Given the description of an element on the screen output the (x, y) to click on. 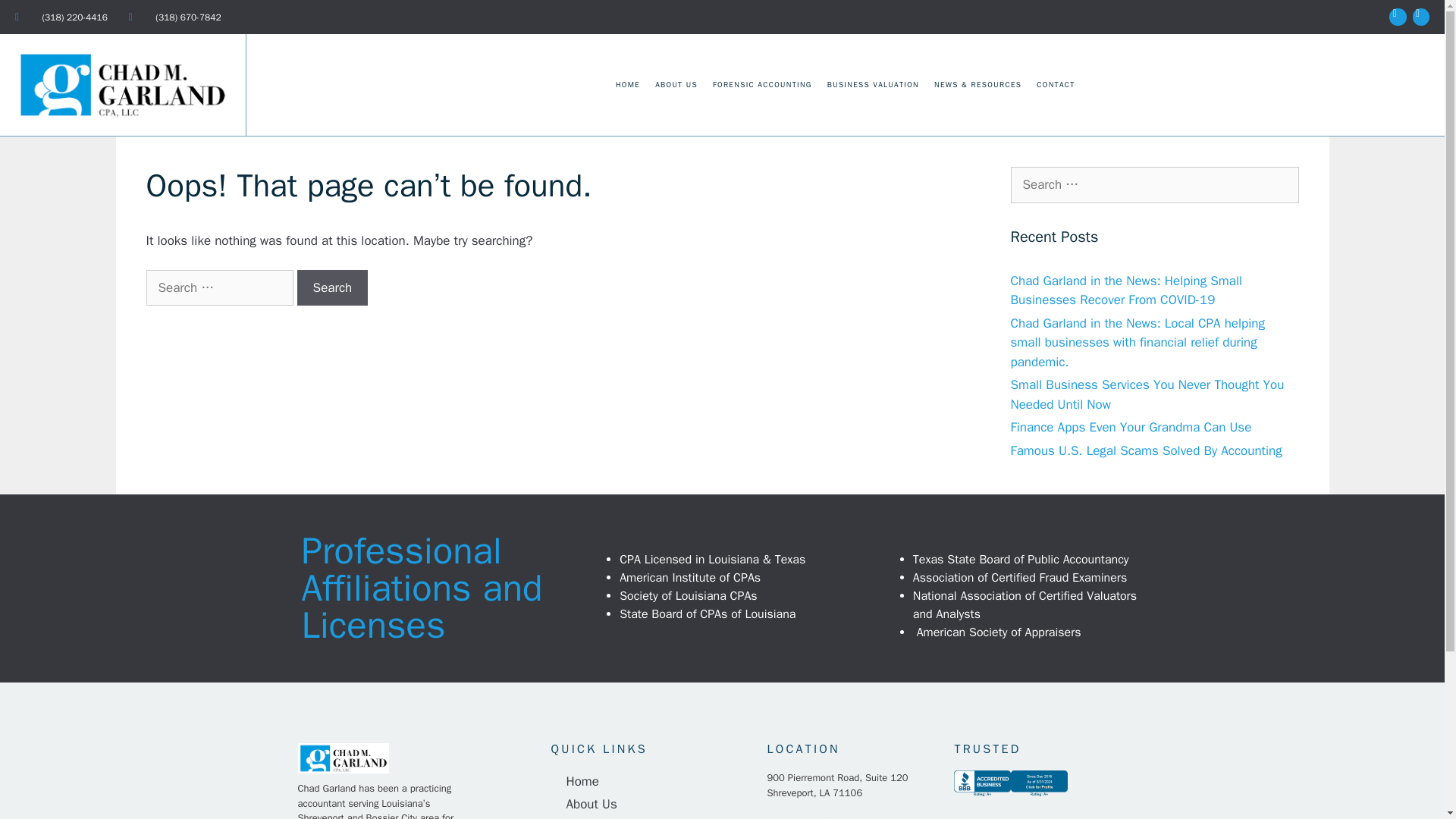
Search for: (218, 288)
Famous U.S. Legal Scams Solved By Accounting (1145, 450)
Search for: (1154, 185)
CONTACT (1055, 84)
Search (332, 288)
Search (35, 18)
Finance Apps Even Your Grandma Can Use (1130, 426)
Forensic Accounting (650, 817)
Search (332, 288)
